Given the description of an element on the screen output the (x, y) to click on. 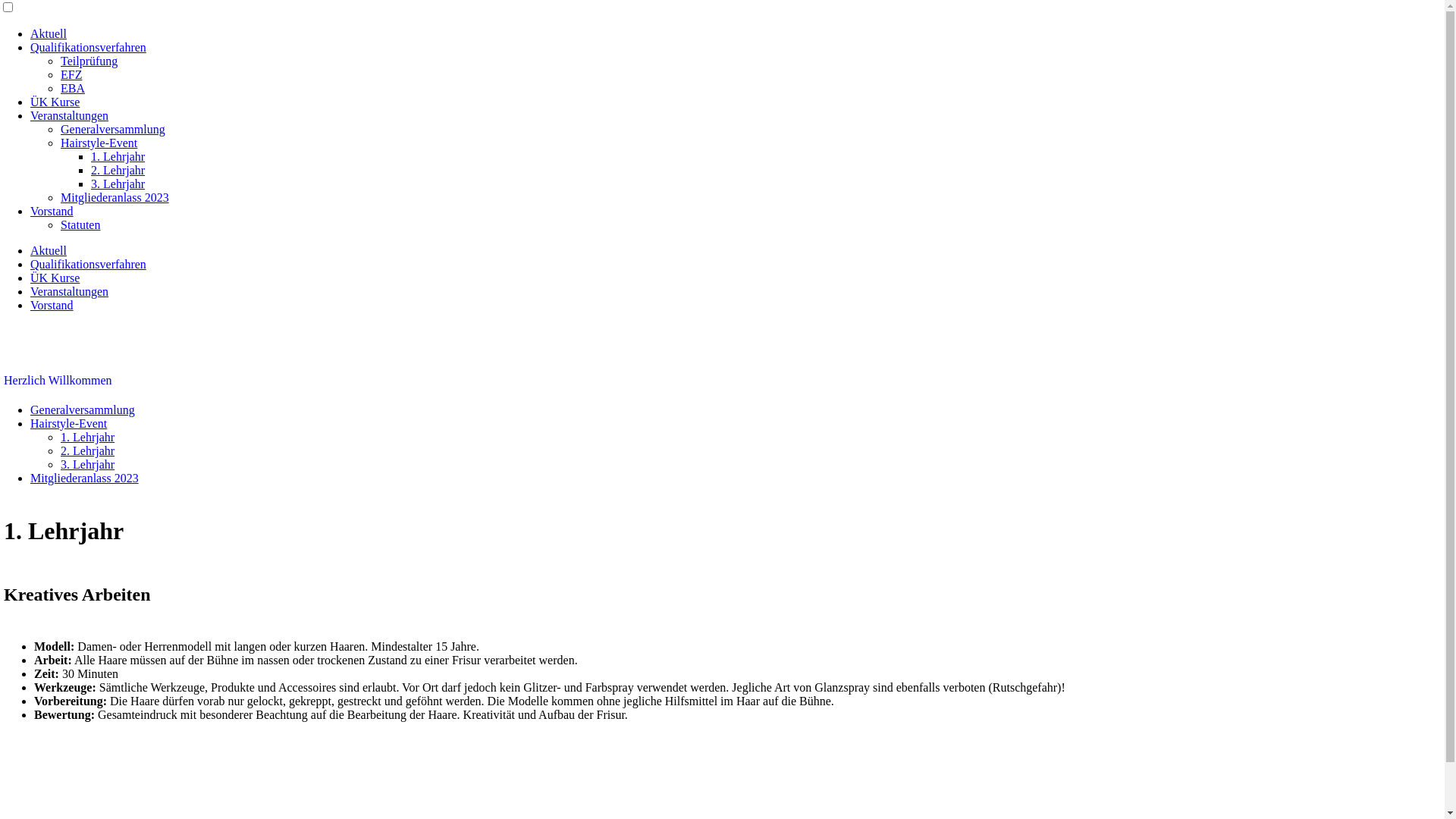
Qualifikationsverfahren Element type: text (88, 46)
2. Lehrjahr Element type: text (87, 450)
Hairstyle-Event Element type: text (98, 142)
1. Lehrjahr Element type: text (87, 436)
Generalversammlung Element type: text (82, 409)
3. Lehrjahr Element type: text (117, 183)
Veranstaltungen Element type: text (69, 291)
Statuten Element type: text (80, 224)
EBA Element type: text (72, 87)
Vorstand Element type: text (51, 304)
Aktuell Element type: text (48, 250)
Veranstaltungen Element type: text (69, 115)
Vorstand Element type: text (51, 210)
2. Lehrjahr Element type: text (117, 169)
Hairstyle-Event Element type: text (68, 423)
Mitgliederanlass 2023 Element type: text (84, 477)
3. Lehrjahr Element type: text (87, 464)
Aktuell Element type: text (48, 33)
1. Lehrjahr Element type: text (117, 156)
EFZ Element type: text (70, 74)
Generalversammlung Element type: text (112, 128)
Qualifikationsverfahren Element type: text (88, 263)
Herzlich Willkommen Element type: text (57, 379)
Mitgliederanlass 2023 Element type: text (114, 197)
